Given the description of an element on the screen output the (x, y) to click on. 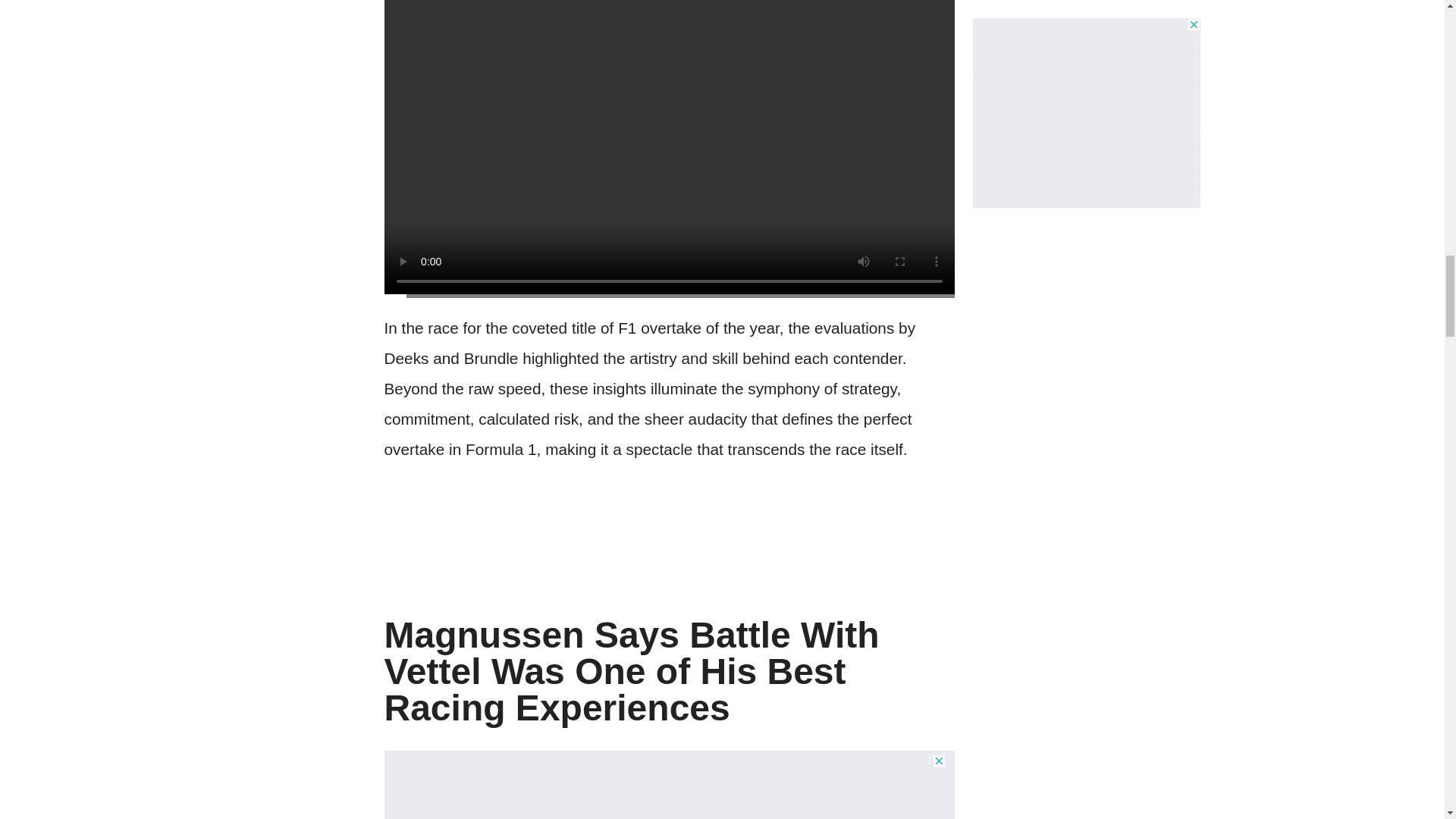
3rd party ad content (668, 786)
